Given the description of an element on the screen output the (x, y) to click on. 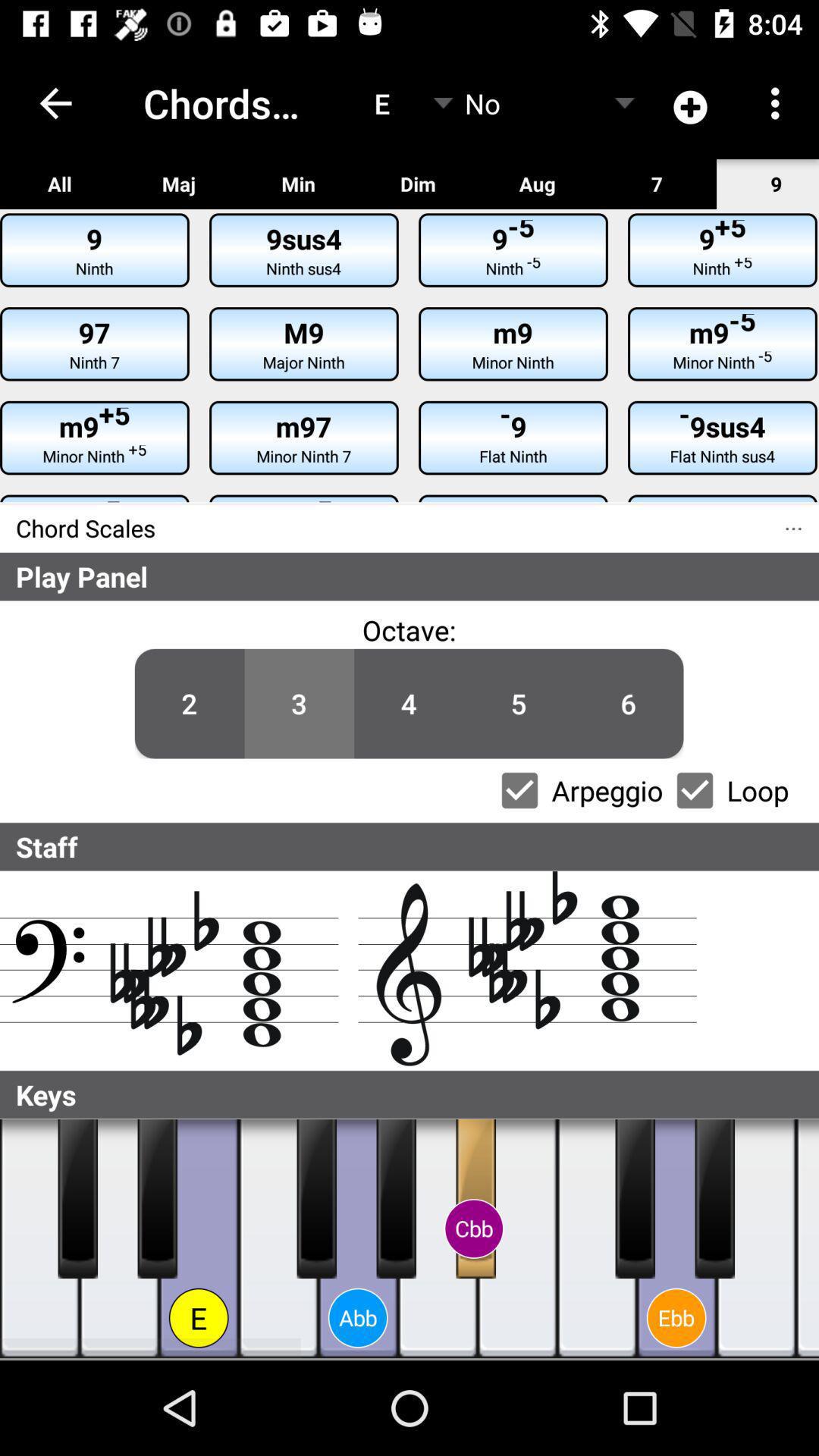
play minor key (714, 1198)
